Given the description of an element on the screen output the (x, y) to click on. 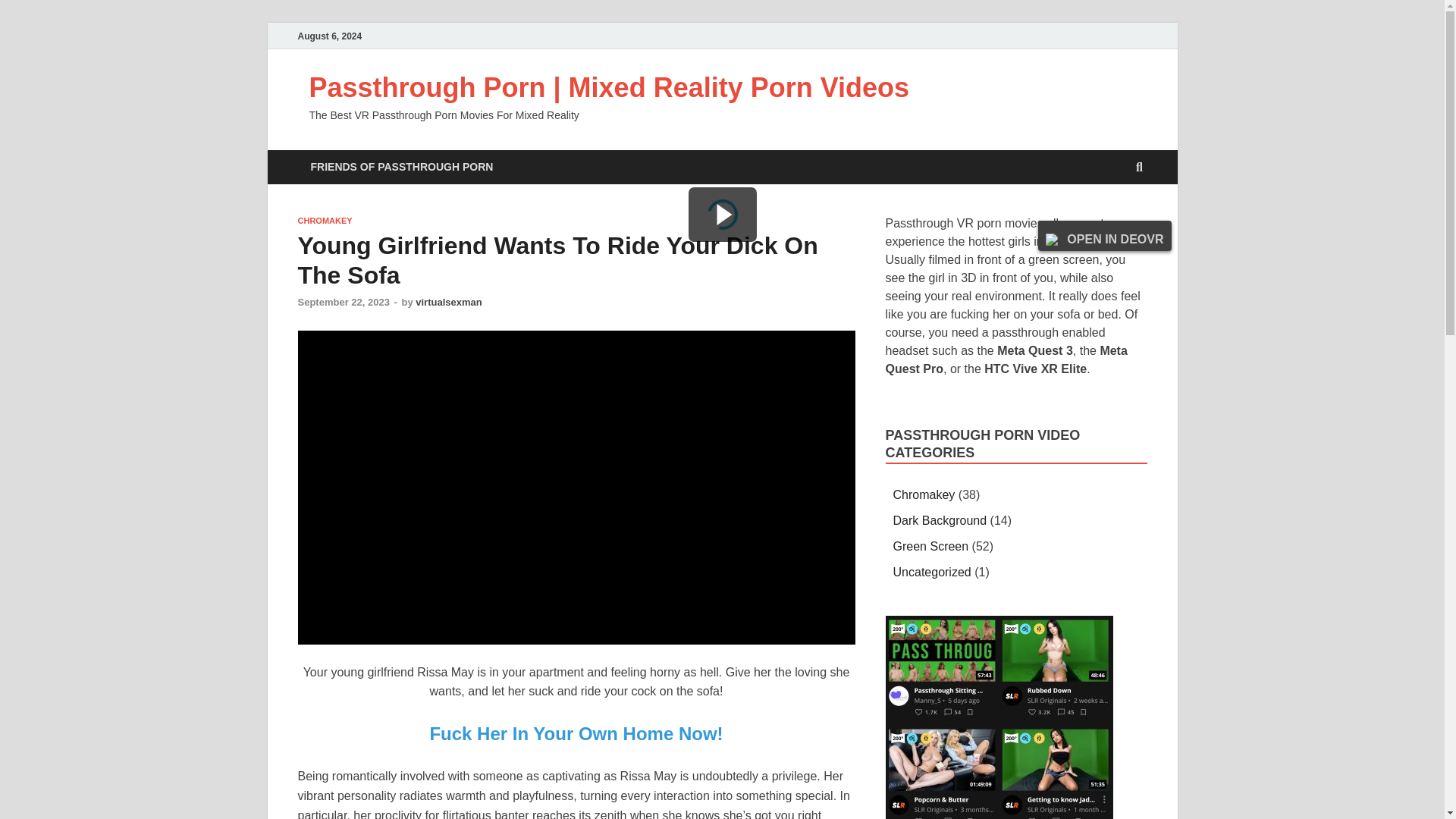
Uncategorized (932, 571)
CHROMAKEY (324, 220)
Fuck Her In Your Own Home Now! (575, 733)
Green Screen (931, 545)
virtualsexman (447, 301)
September 22, 2023 (342, 301)
FRIENDS OF PASSTHROUGH PORN (401, 166)
Dark Background (940, 520)
Chromakey (924, 494)
